Given the description of an element on the screen output the (x, y) to click on. 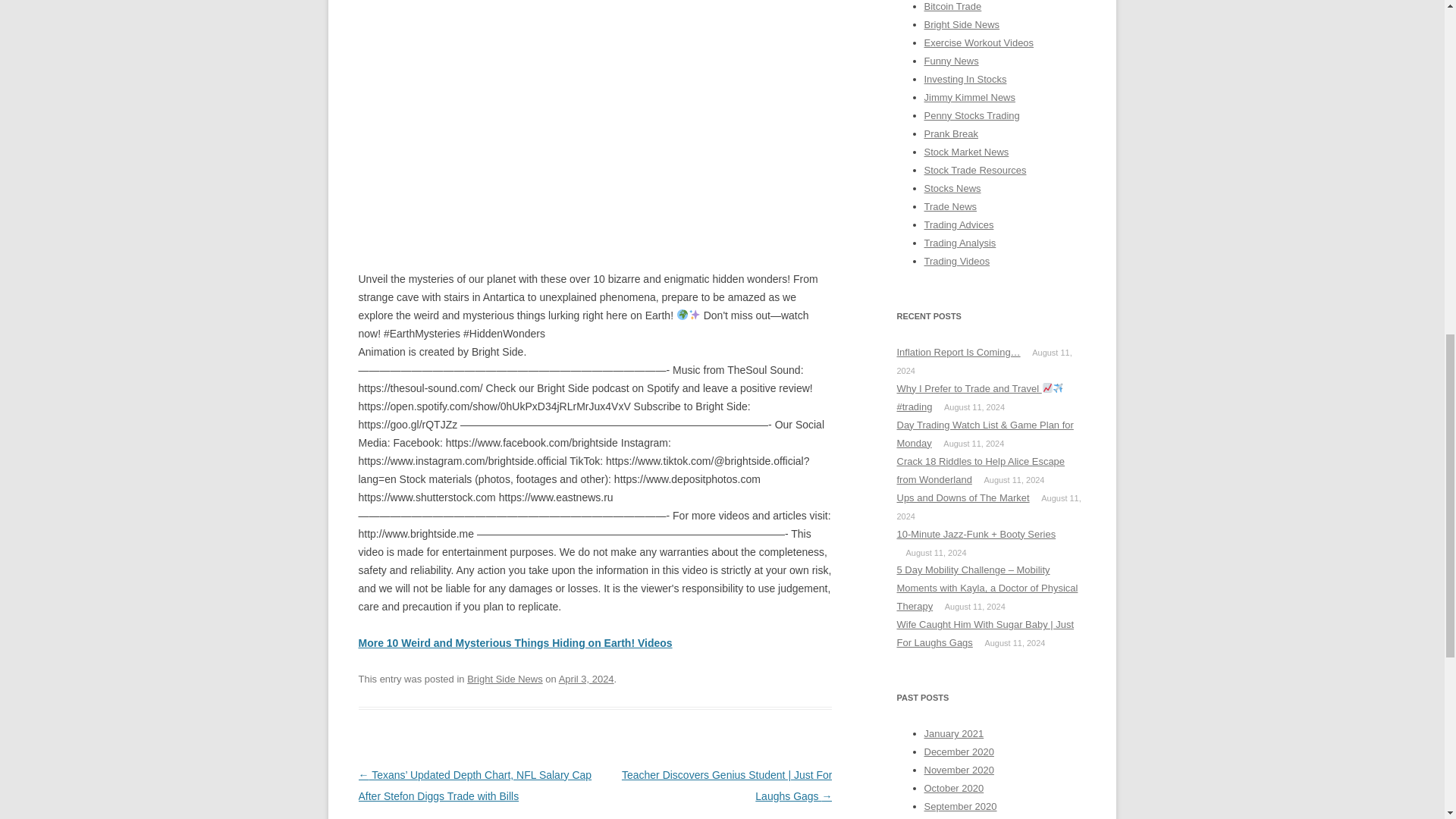
Trade News (949, 206)
Jimmy Kimmel News (968, 97)
Exercise Workout Videos (978, 42)
Stock Trade Resources (974, 170)
April 3, 2024 (586, 678)
Ups and Downs of The Market (962, 497)
1:00 pm (586, 678)
Bright Side News (505, 678)
Stocks News (951, 188)
Penny Stocks Trading (971, 115)
